Given the description of an element on the screen output the (x, y) to click on. 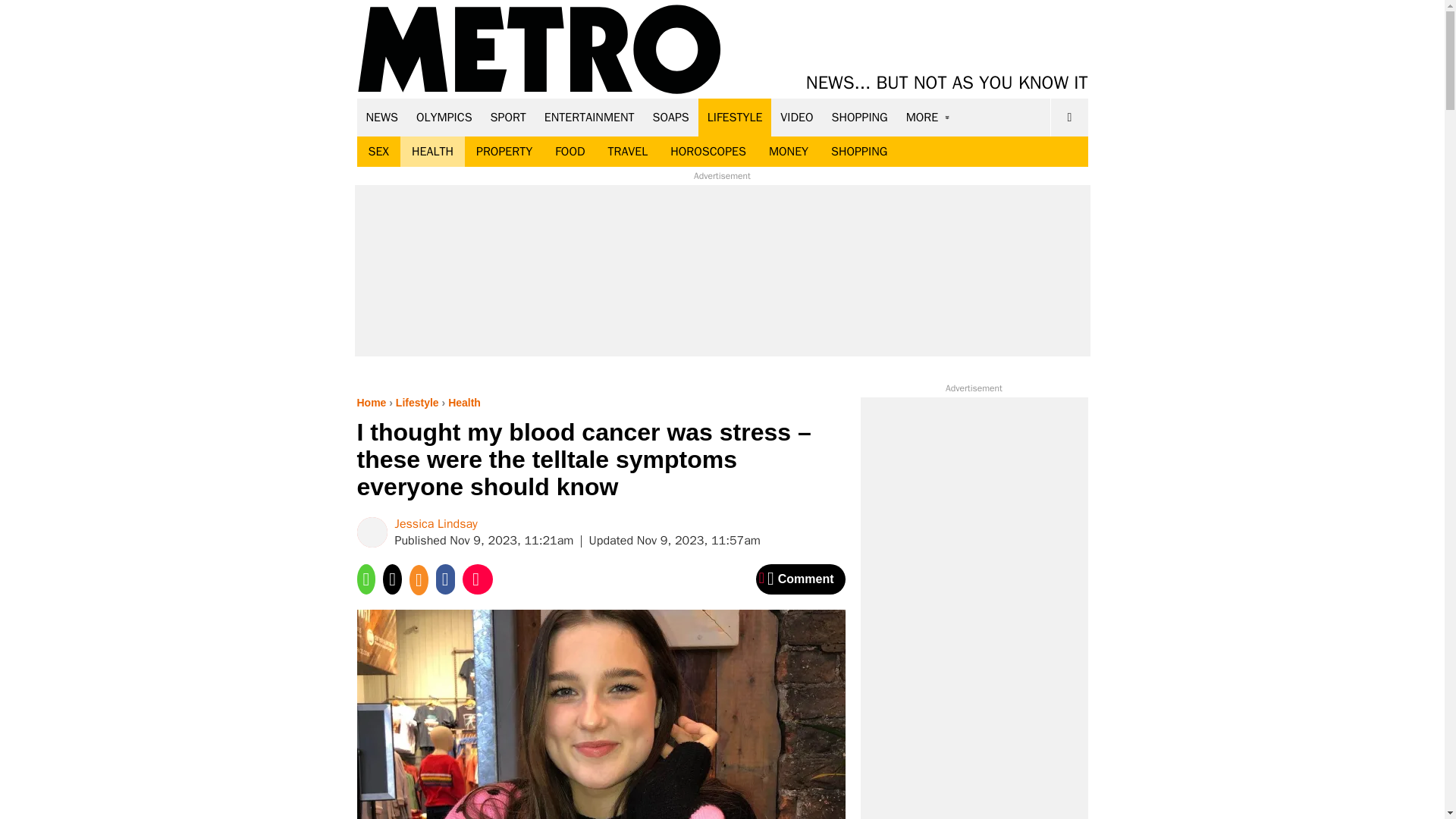
SEX (377, 151)
ENTERTAINMENT (589, 117)
NEWS (381, 117)
HEALTH (432, 151)
SOAPS (670, 117)
FOOD (569, 151)
PROPERTY (503, 151)
Metro (539, 50)
LIFESTYLE (734, 117)
SPORT (508, 117)
OLYMPICS (444, 117)
